Given the description of an element on the screen output the (x, y) to click on. 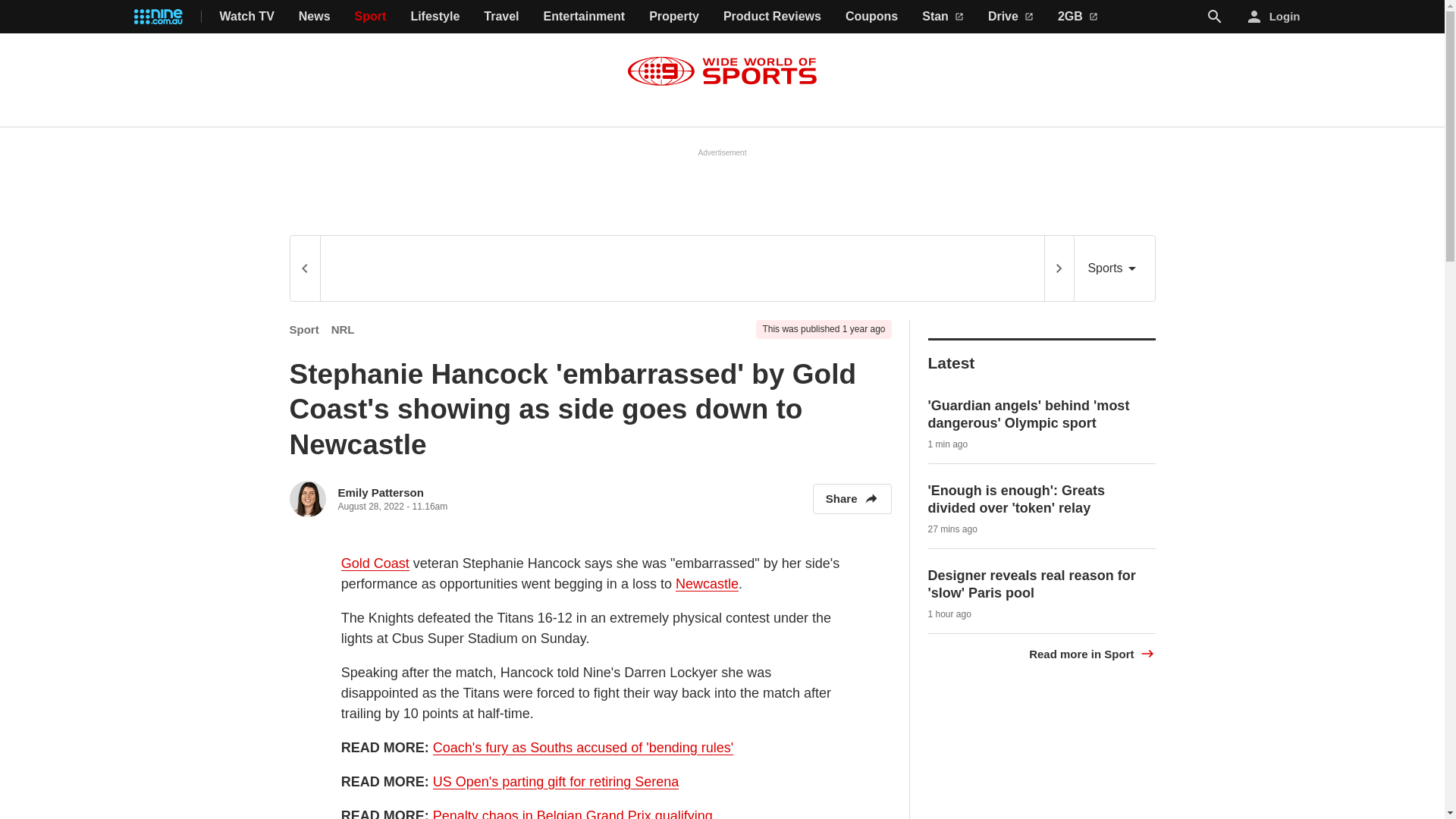
Entertainment (584, 16)
Product Reviews (772, 16)
Sports (1114, 268)
US Open's parting gift for retiring Serena (555, 775)
Search (1214, 16)
Login (1273, 16)
Coach's fury as Souths accused of 'bending rules' (582, 741)
Search (1214, 16)
Watch TV (247, 16)
Sport (303, 328)
